Given the description of an element on the screen output the (x, y) to click on. 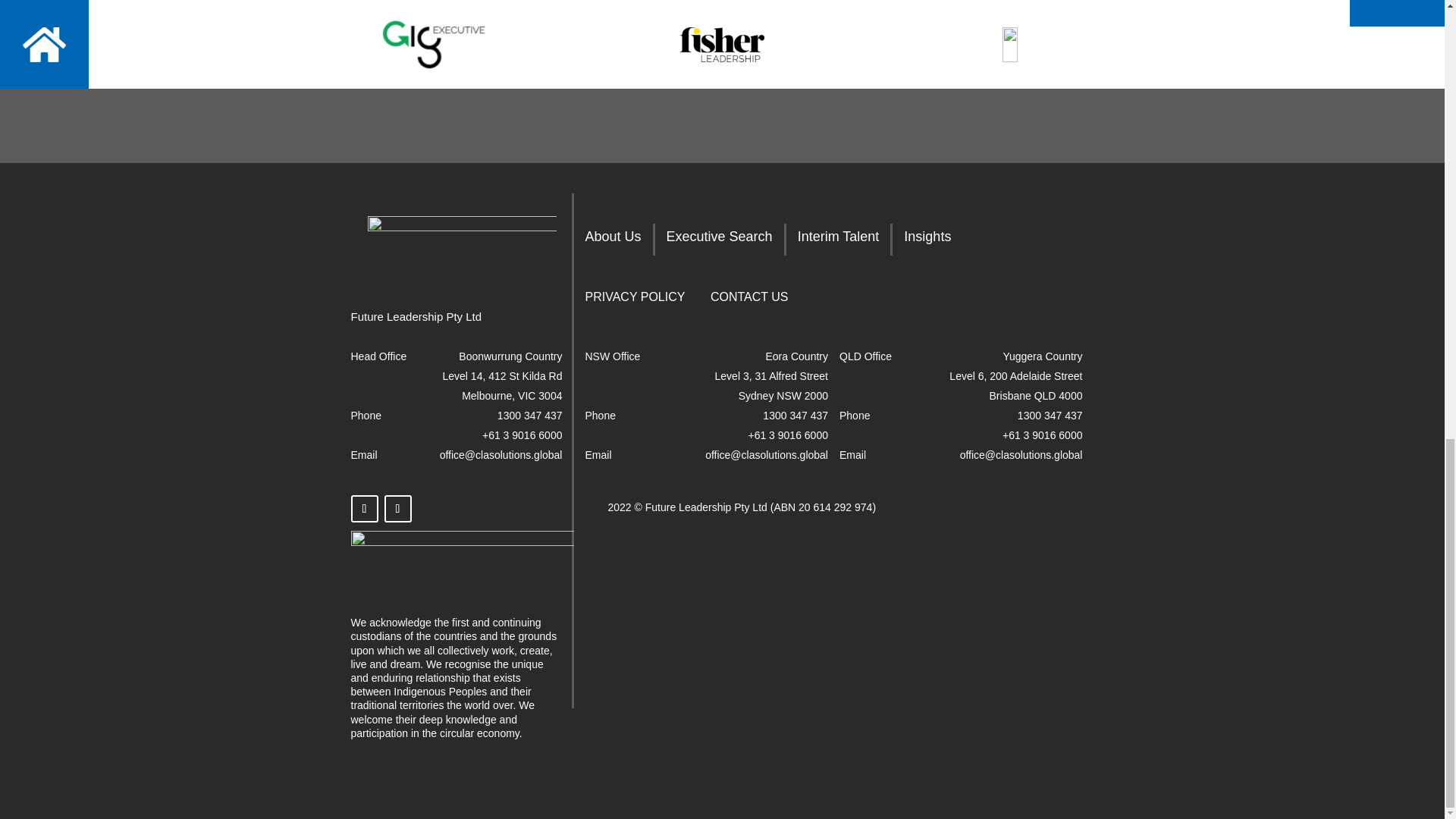
CONTACT US (749, 299)
Follow on X (363, 508)
1300 347 437 (795, 415)
PRIVACY POLICY (635, 299)
Insights (927, 239)
Untitled design-3 (461, 558)
Follow on LinkedIn (397, 508)
Executive Search (719, 239)
About Us (613, 239)
Interim Talent (838, 239)
